Given the description of an element on the screen output the (x, y) to click on. 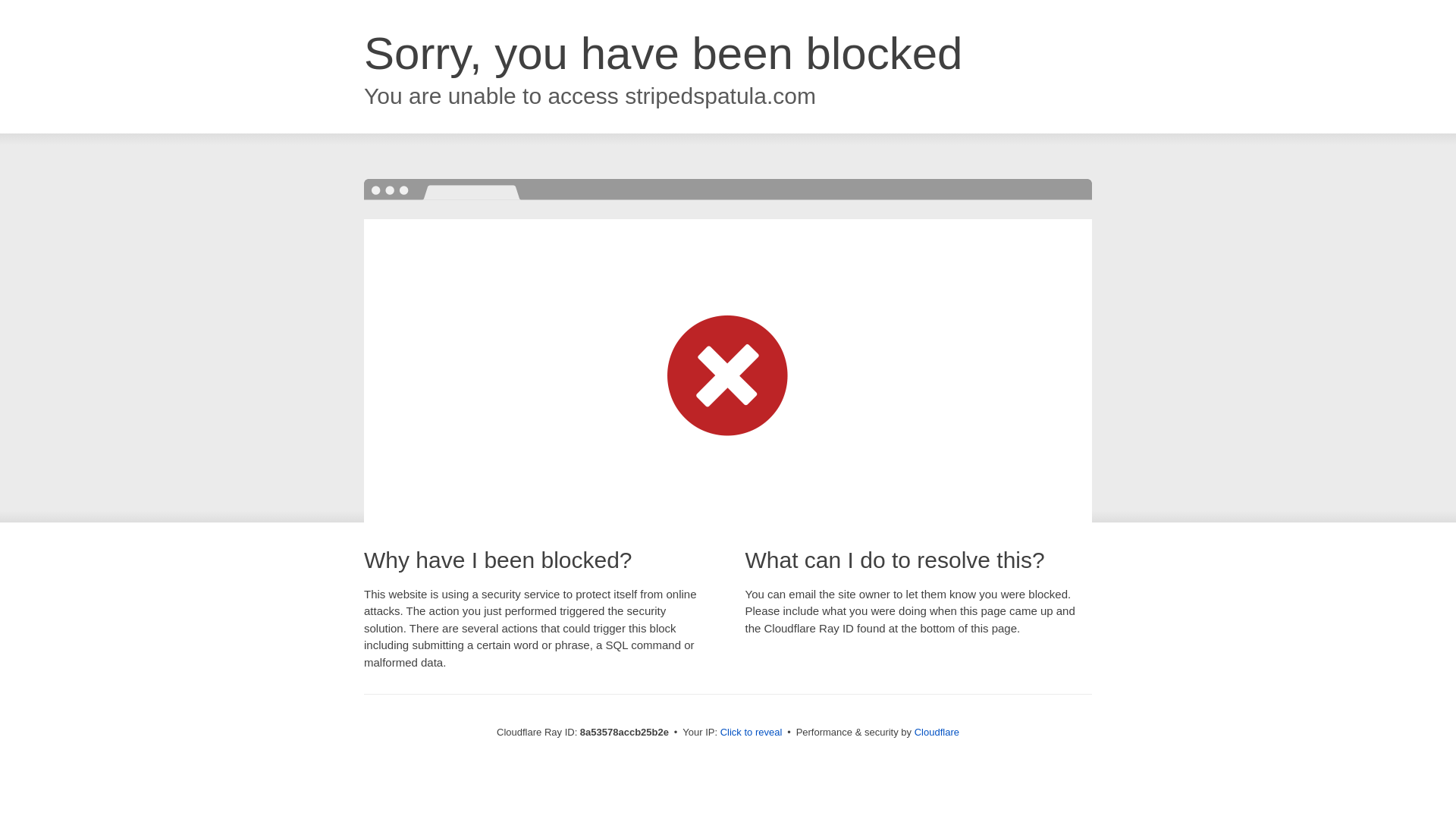
Click to reveal (751, 732)
Cloudflare (936, 731)
